Given the description of an element on the screen output the (x, y) to click on. 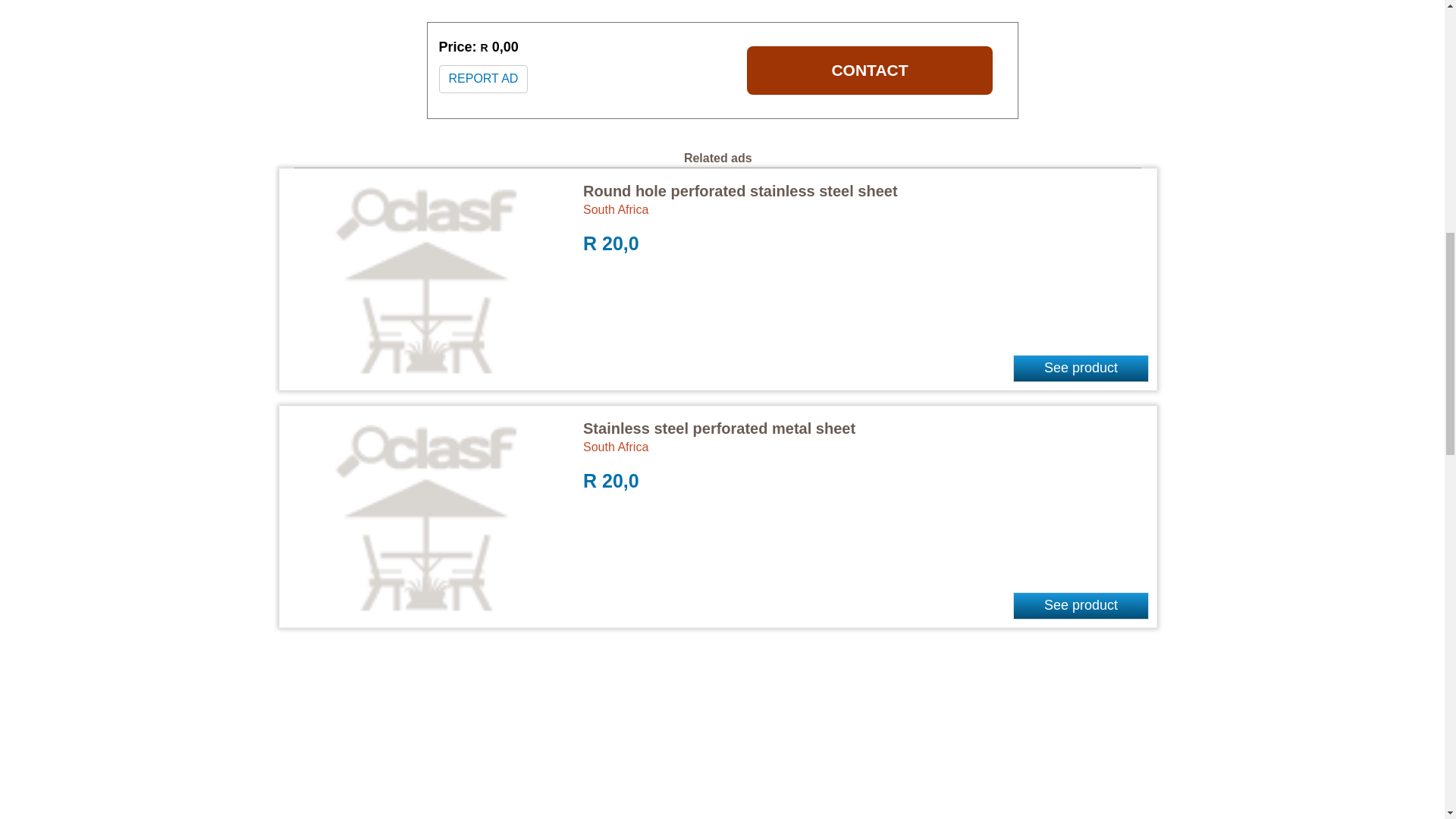
Stainless steel perforated metal sheet (719, 428)
Round hole perforated stainless steel sheet (740, 190)
REPORT AD (482, 79)
Round hole perforated stainless steel sheet (740, 190)
Stainless steel perforated metal sheet (719, 428)
